Given the description of an element on the screen output the (x, y) to click on. 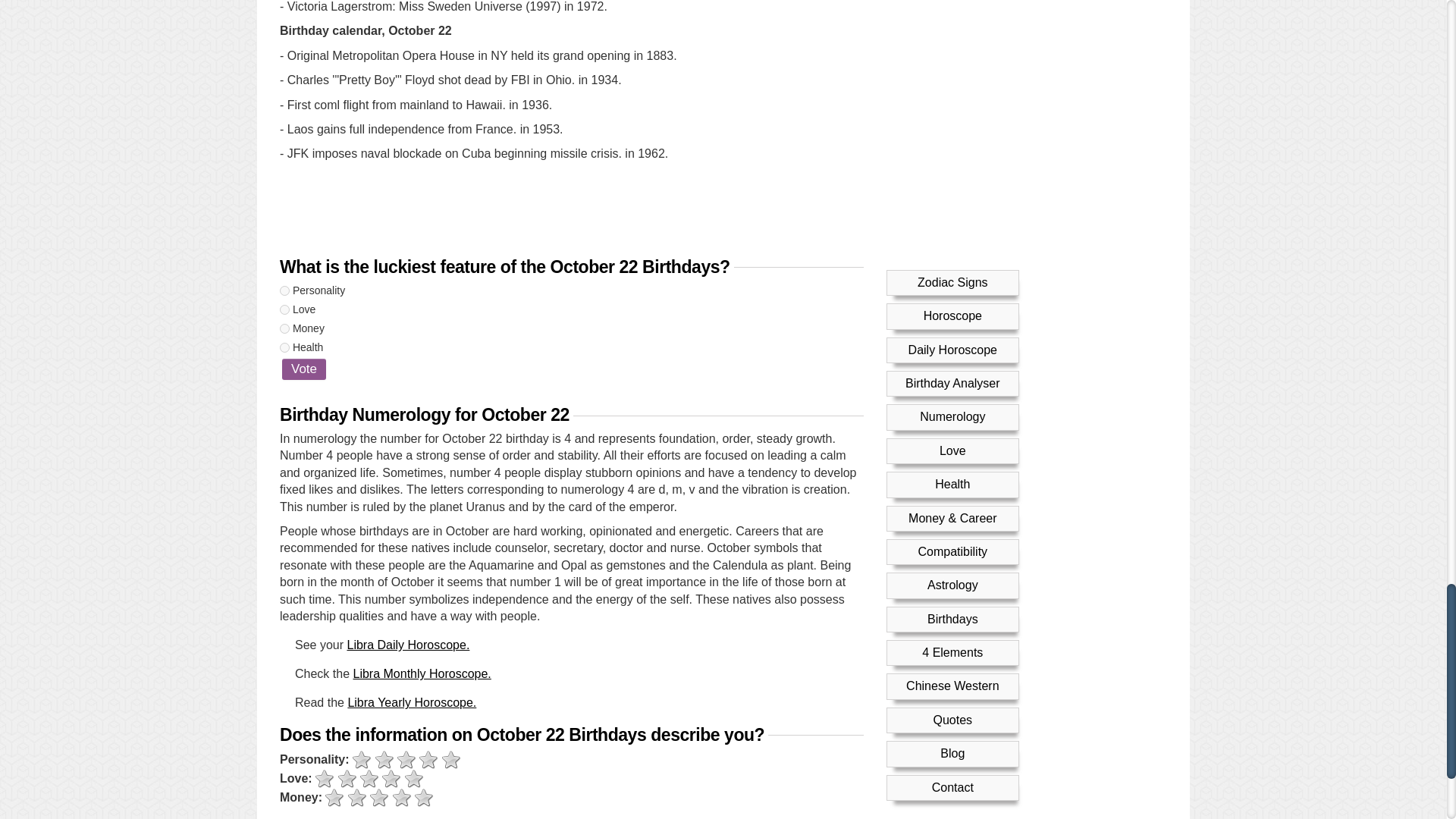
q1 (284, 290)
Not at All (333, 797)
Very Good (451, 760)
q3 (284, 328)
Libra Daily Horoscope (407, 644)
q4 (284, 347)
Average (406, 760)
Somewhat (356, 797)
Very Good (413, 778)
Libra August 2024 Monthly Horoscope (421, 673)
Not at All (324, 778)
Vote (304, 369)
Good (402, 797)
Libra Horoscope 2025: Key Yearly Predictions (411, 702)
Somewhat (383, 760)
